Given the description of an element on the screen output the (x, y) to click on. 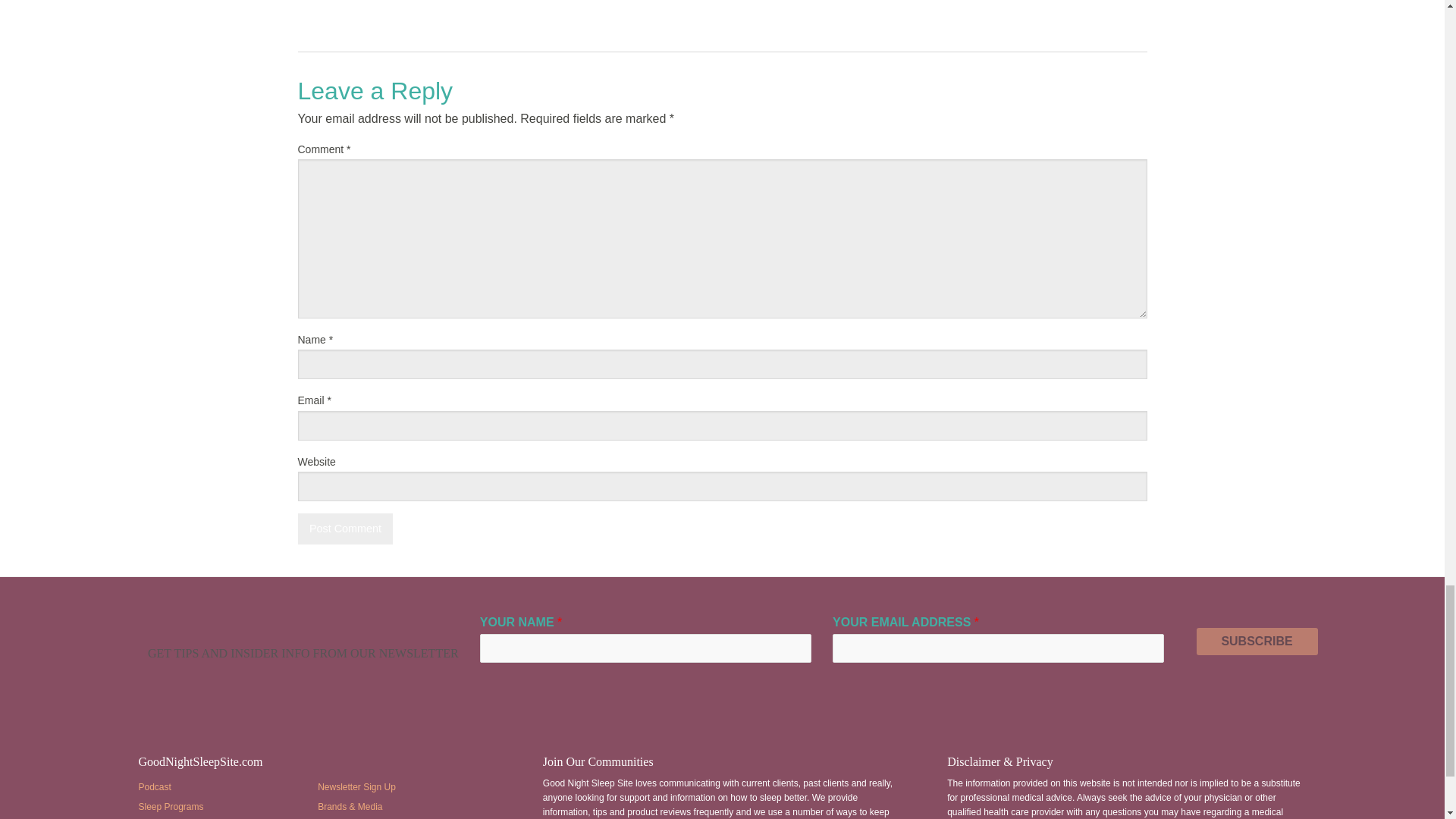
Post Comment (345, 528)
